Given the description of an element on the screen output the (x, y) to click on. 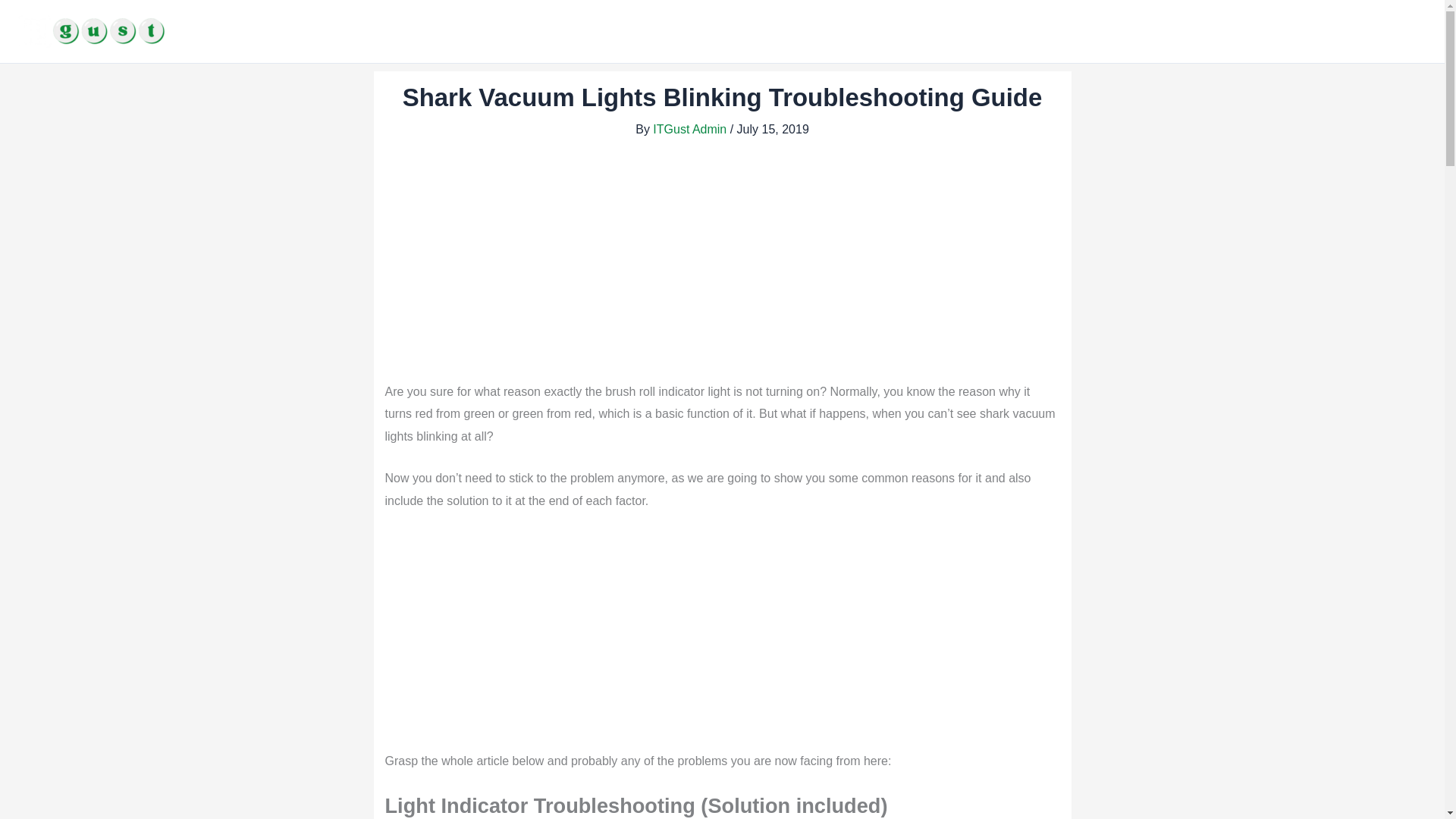
ITGust Admin (690, 128)
Finance (999, 31)
Automobile (1296, 31)
Home (938, 31)
Health (1368, 31)
View all posts by ITGust Admin (690, 128)
